Given the description of an element on the screen output the (x, y) to click on. 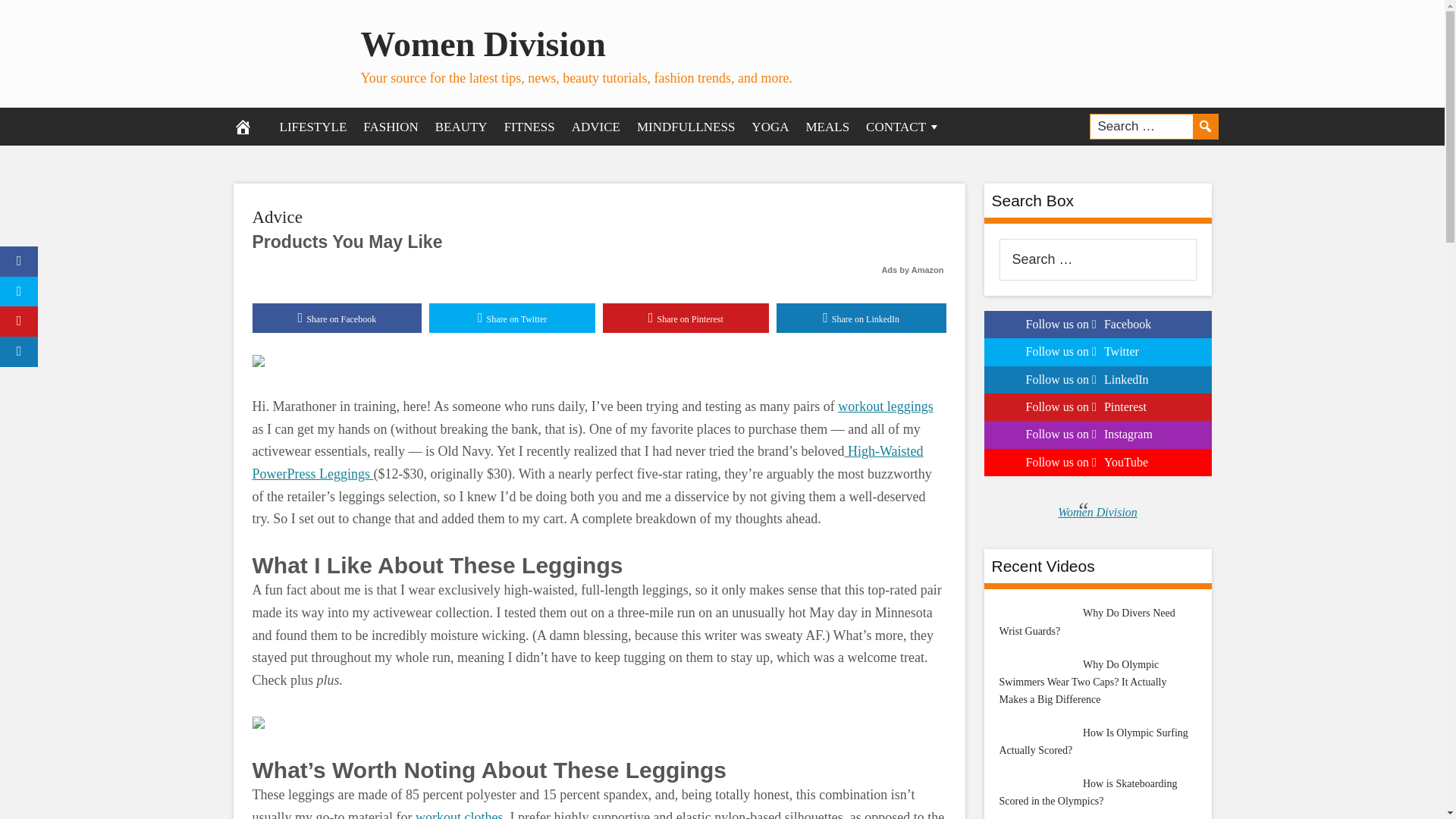
BEAUTY (461, 126)
MEALS (826, 126)
Advice (276, 217)
YOGA (769, 126)
FASHION (390, 126)
Women Division (483, 43)
MINDFULLNESS (685, 126)
CONTACT (903, 126)
LIFESTYLE (312, 126)
FITNESS (529, 126)
